Given the description of an element on the screen output the (x, y) to click on. 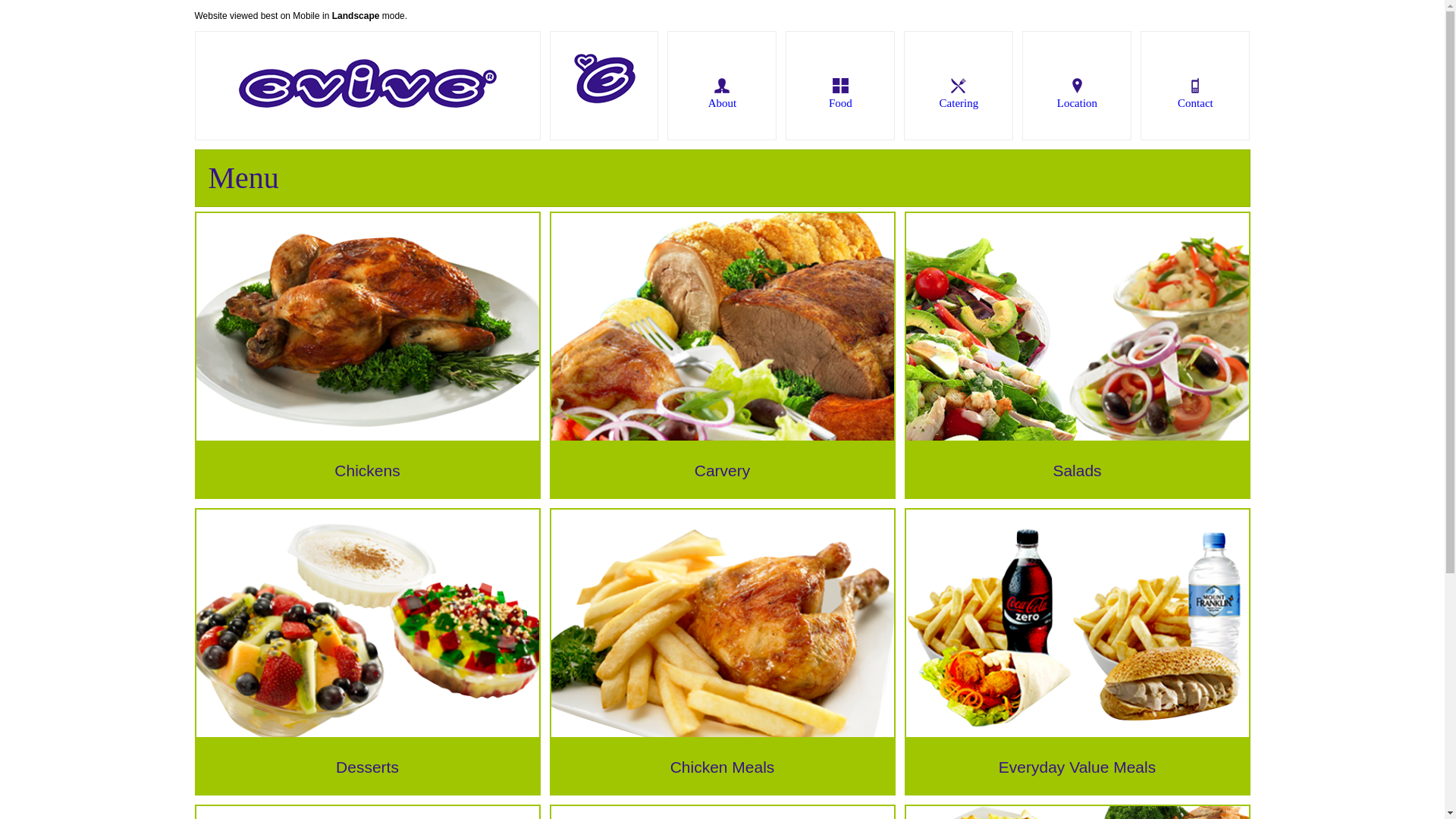
Food Element type: text (839, 85)
Contact Element type: text (1194, 85)
Home Element type: text (603, 85)
Catering Element type: text (958, 85)
Location Element type: text (1076, 85)
About Element type: text (721, 85)
